Given the description of an element on the screen output the (x, y) to click on. 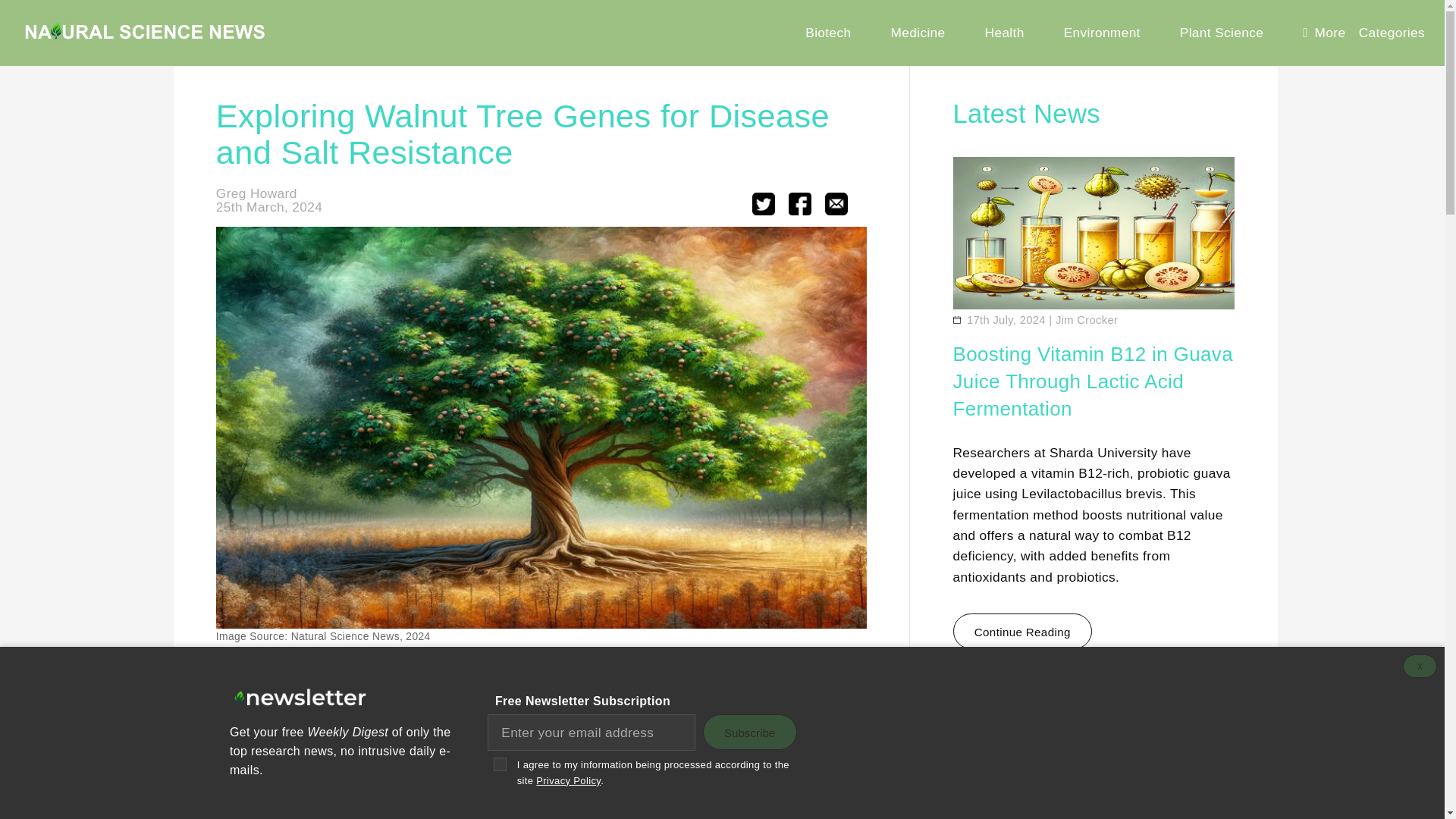
Medicine (917, 33)
Plant Science (1221, 33)
More (1324, 33)
Environment (1101, 33)
Biotech (828, 33)
Health (1003, 33)
Categories (1391, 33)
